Given the description of an element on the screen output the (x, y) to click on. 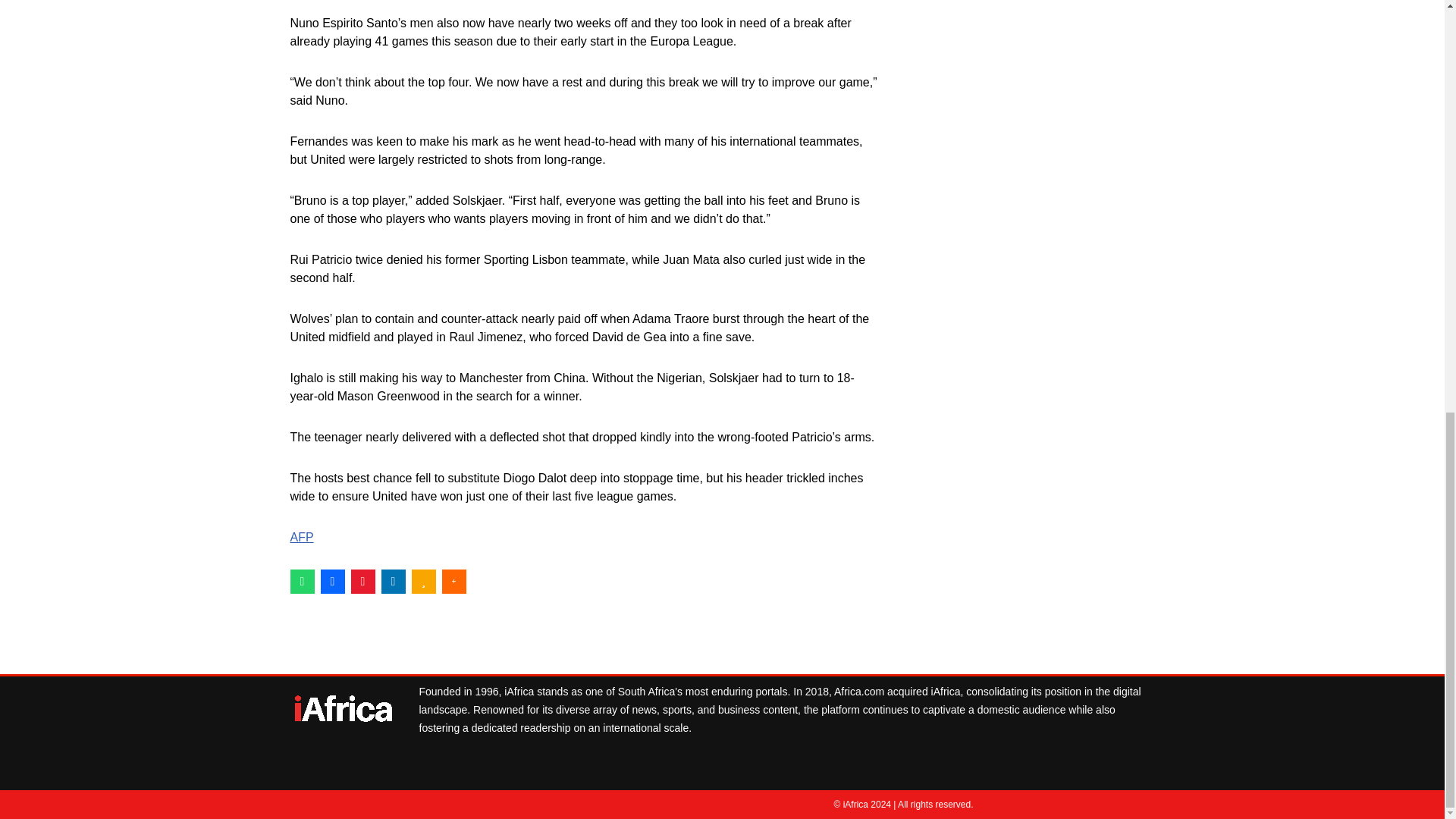
Add this to LinkedIn (392, 580)
WhatsApp (301, 580)
Convert to PDF (362, 580)
AFP (301, 536)
Share this on Facebook (331, 580)
Add to favorites (422, 580)
More share links (453, 580)
